Given the description of an element on the screen output the (x, y) to click on. 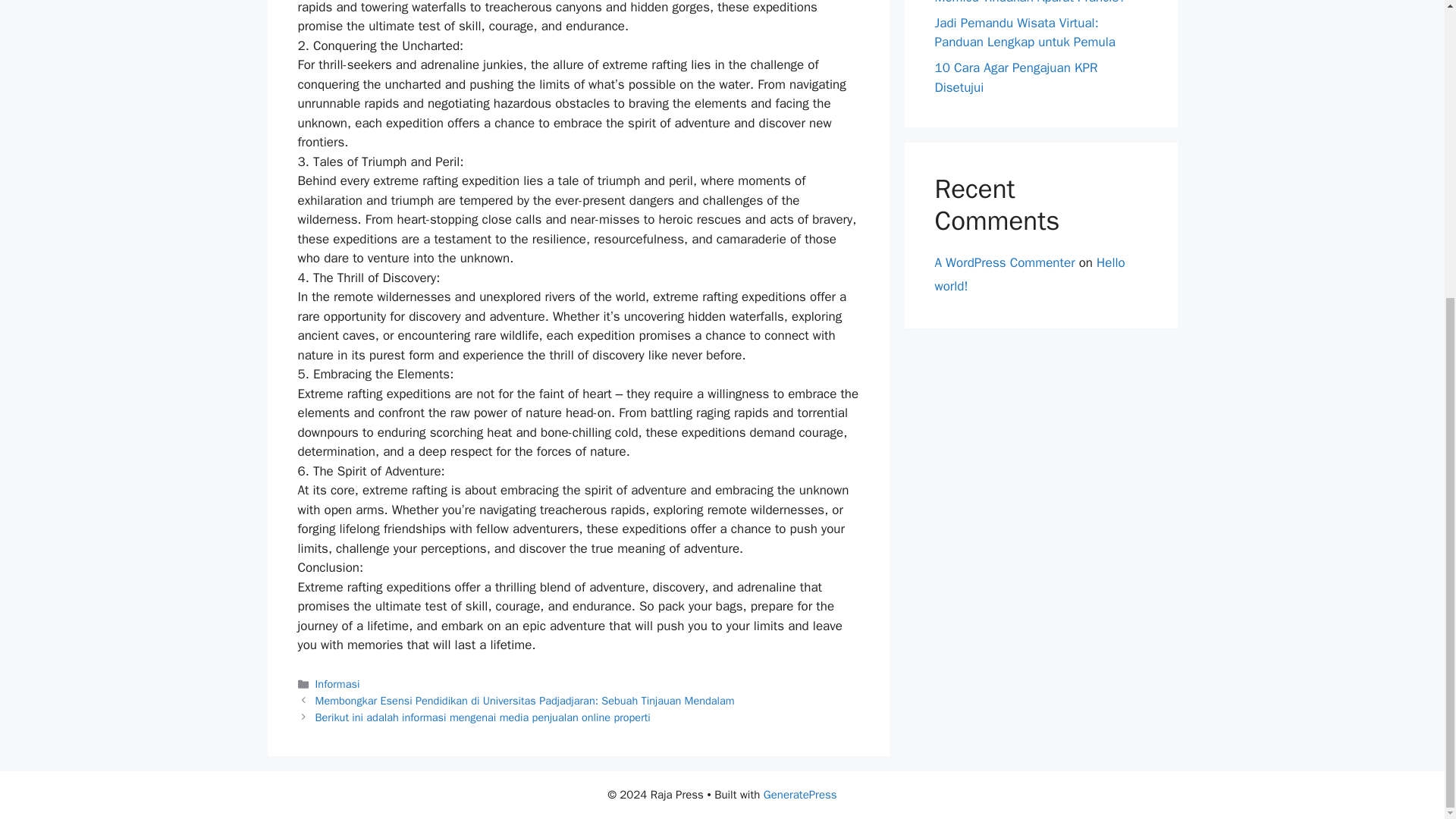
Informasi (337, 684)
Hello world! (1029, 274)
A WordPress Commenter (1004, 262)
10 Cara Agar Pengajuan KPR Disetujui (1015, 77)
Jadi Pemandu Wisata Virtual: Panduan Lengkap untuk Pemula (1024, 31)
GeneratePress (799, 794)
